Given the description of an element on the screen output the (x, y) to click on. 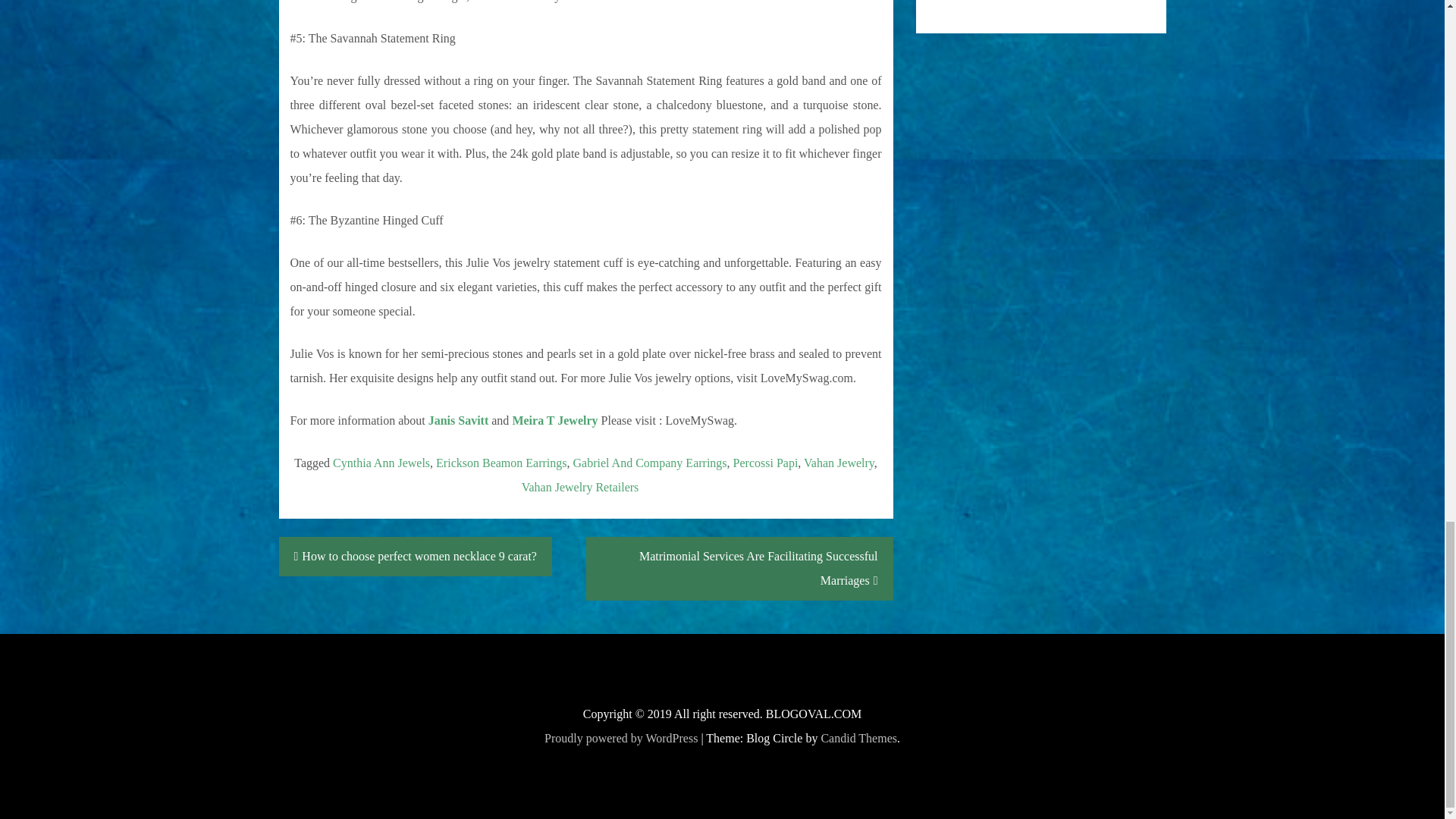
Matrimonial Services Are Facilitating Successful Marriages (738, 568)
Vahan Jewelry Retailers (580, 486)
Vahan Jewelry (839, 462)
Cynthia Ann Jewels (381, 462)
Meira T Jewelry (554, 420)
Percossi Papi (765, 462)
Janis Savitt (458, 420)
Erickson Beamon Earrings (500, 462)
Gabriel And Company Earrings (649, 462)
How to choose perfect women necklace 9 carat? (415, 556)
